Given the description of an element on the screen output the (x, y) to click on. 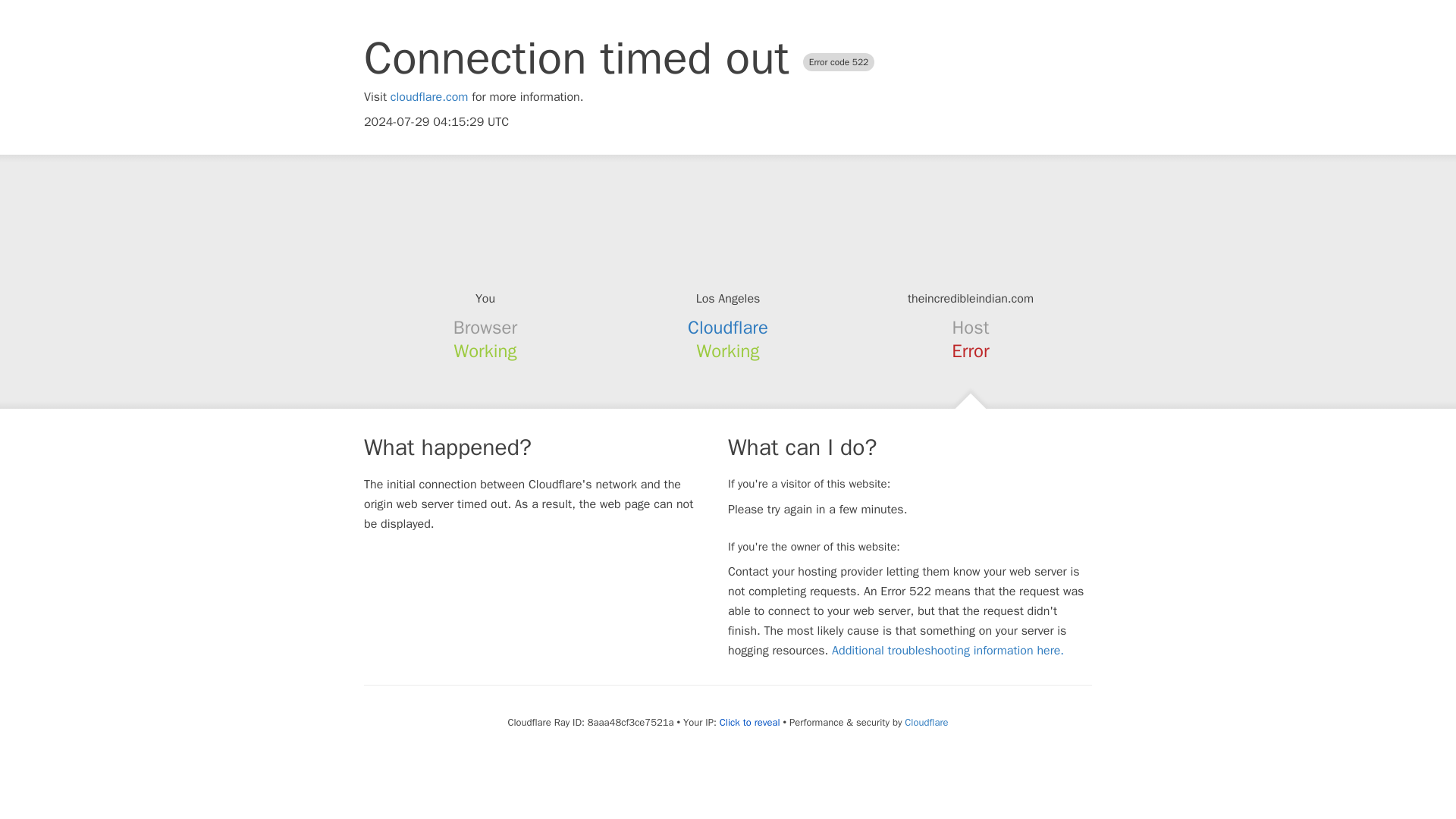
Cloudflare (925, 721)
cloudflare.com (429, 96)
Click to reveal (749, 722)
Additional troubleshooting information here. (947, 650)
Cloudflare (727, 327)
